Given the description of an element on the screen output the (x, y) to click on. 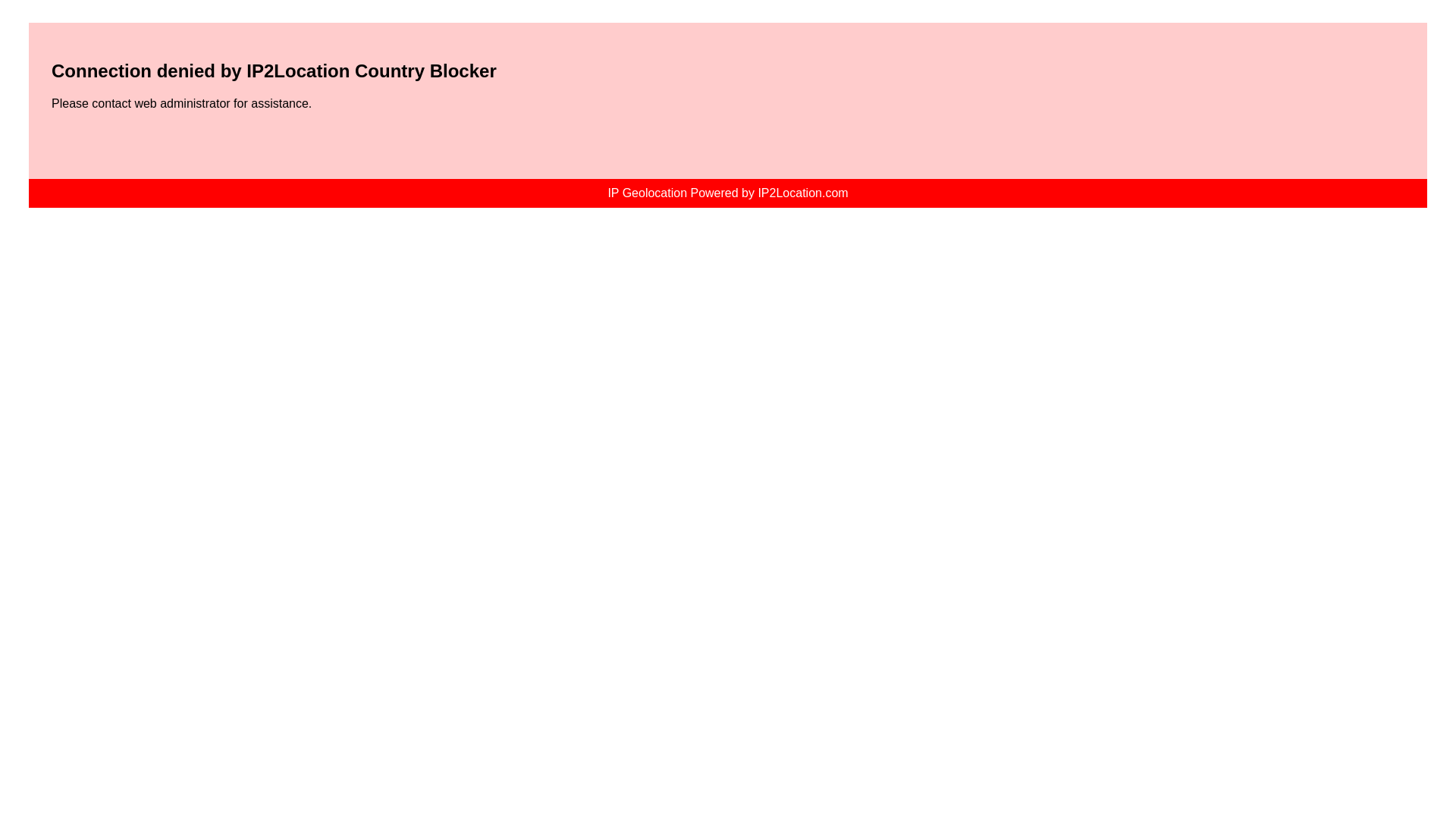
IP Geolocation Powered by IP2Location.com (727, 192)
